Given the description of an element on the screen output the (x, y) to click on. 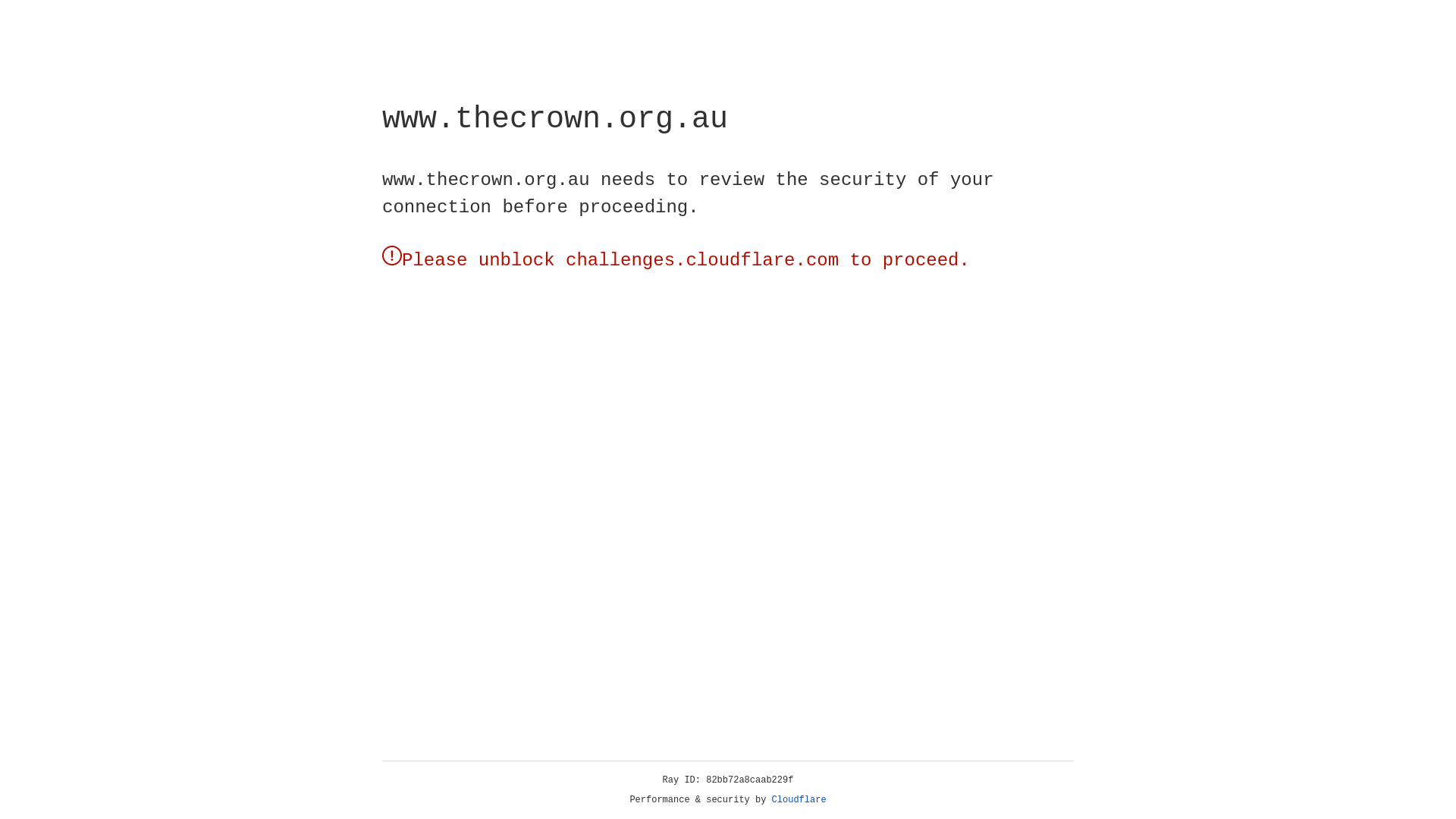
Cloudflare Element type: text (798, 799)
